Given the description of an element on the screen output the (x, y) to click on. 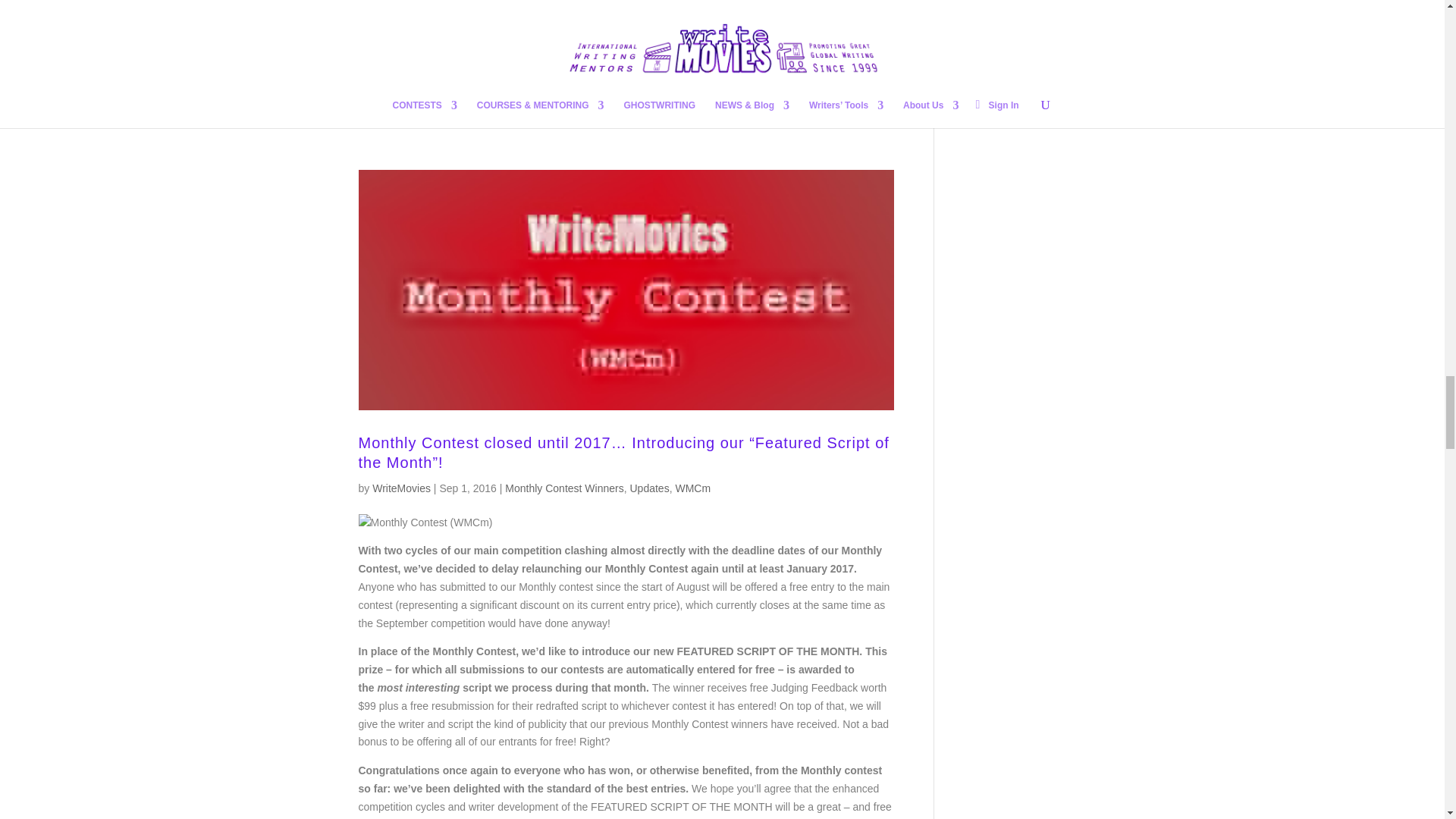
Posts by WriteMovies (401, 488)
